Given the description of an element on the screen output the (x, y) to click on. 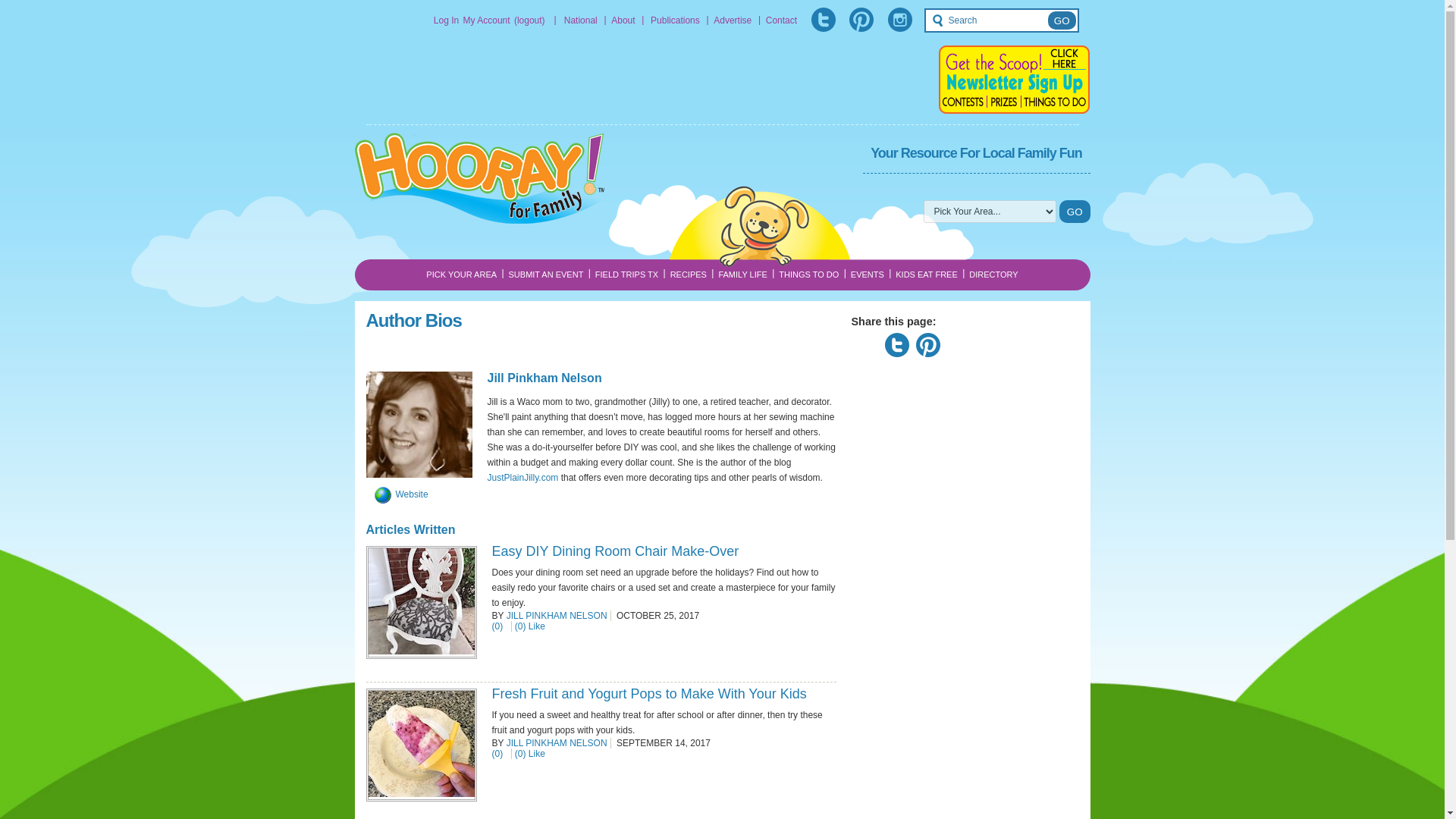
Go (1074, 210)
About (622, 20)
Go (1074, 210)
PICK YOUR AREA (461, 274)
My Account (487, 20)
SUBMIT AN EVENT (546, 274)
Log In (445, 20)
Advertise (732, 20)
Go (1061, 20)
Publications (675, 20)
National (580, 20)
Contact (780, 20)
Go (1061, 20)
FIELD TRIPS TX (626, 274)
RECIPES (688, 274)
